Given the description of an element on the screen output the (x, y) to click on. 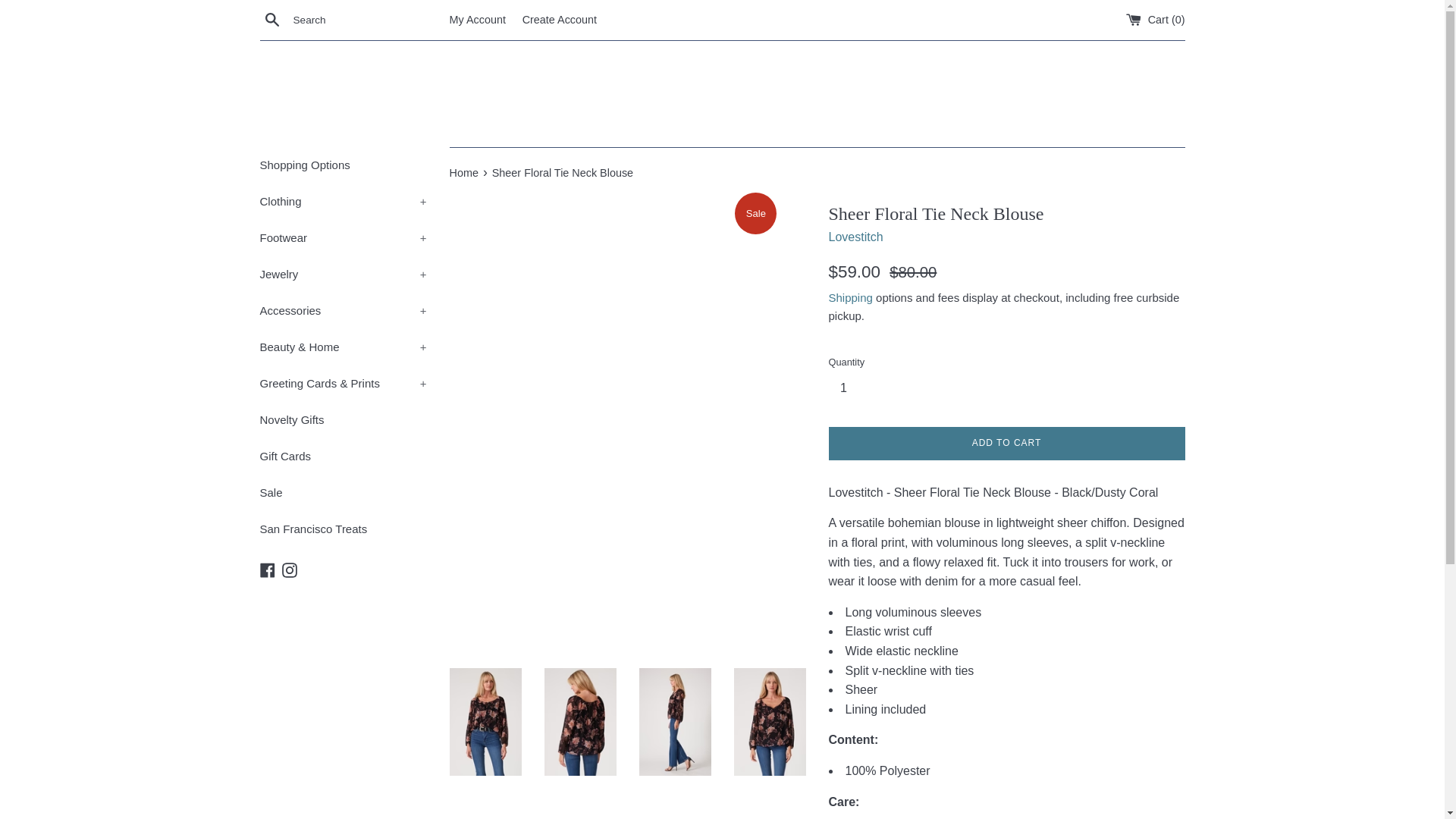
Create Account (559, 19)
SF Siren on Instagram (289, 568)
Search (271, 19)
My Account (476, 19)
1 (848, 388)
SF Siren on Facebook (267, 568)
Back to the frontpage (464, 173)
Lovestitch (855, 236)
Shopping Options (342, 165)
